Given the description of an element on the screen output the (x, y) to click on. 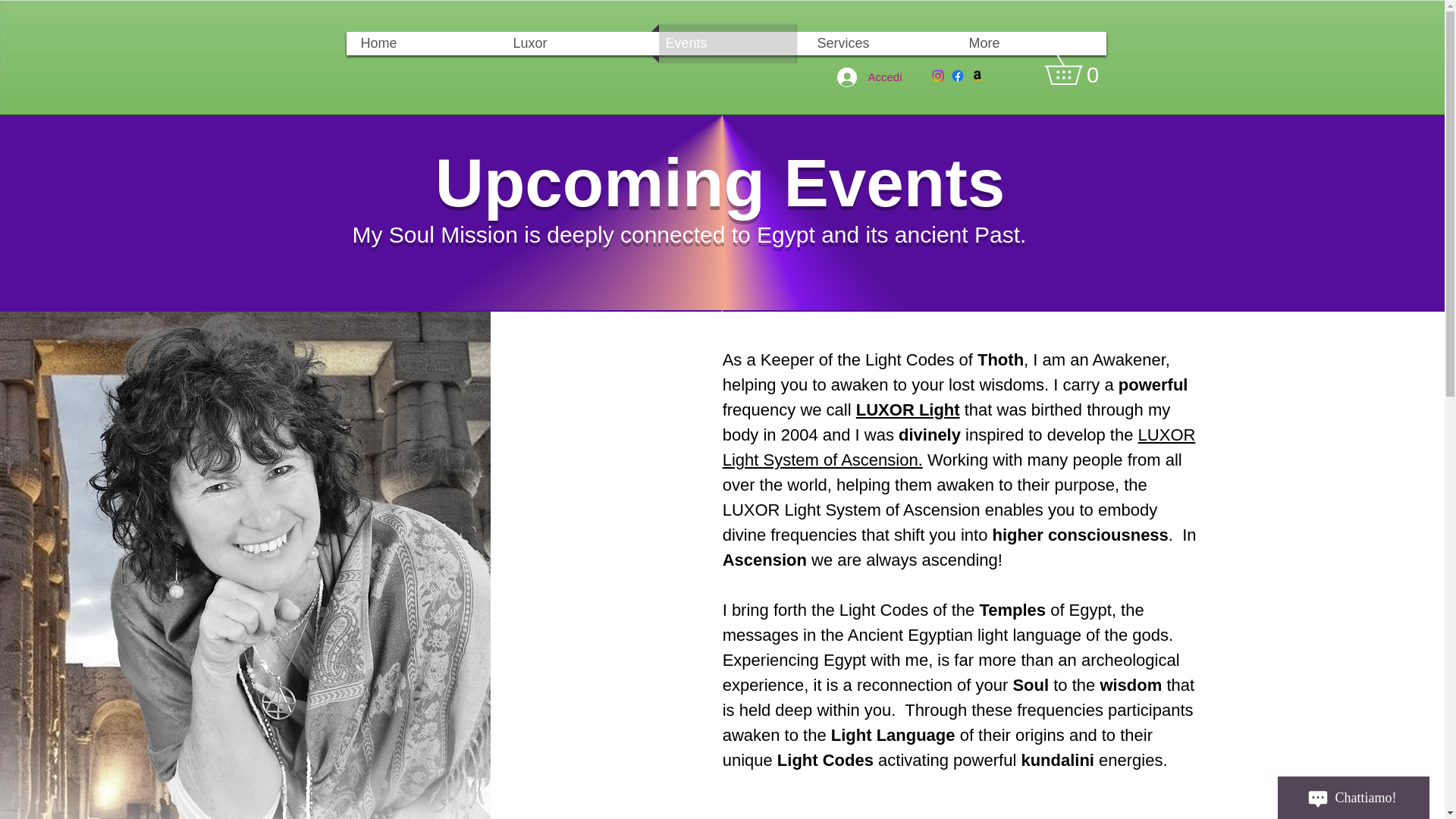
0 (1077, 69)
Home (421, 43)
Accedi (869, 76)
LUXOR Light (907, 409)
0 (1077, 69)
LUXOR Light System of Ascension. (958, 447)
Services (877, 43)
Luxor (574, 43)
Events (726, 43)
